Given the description of an element on the screen output the (x, y) to click on. 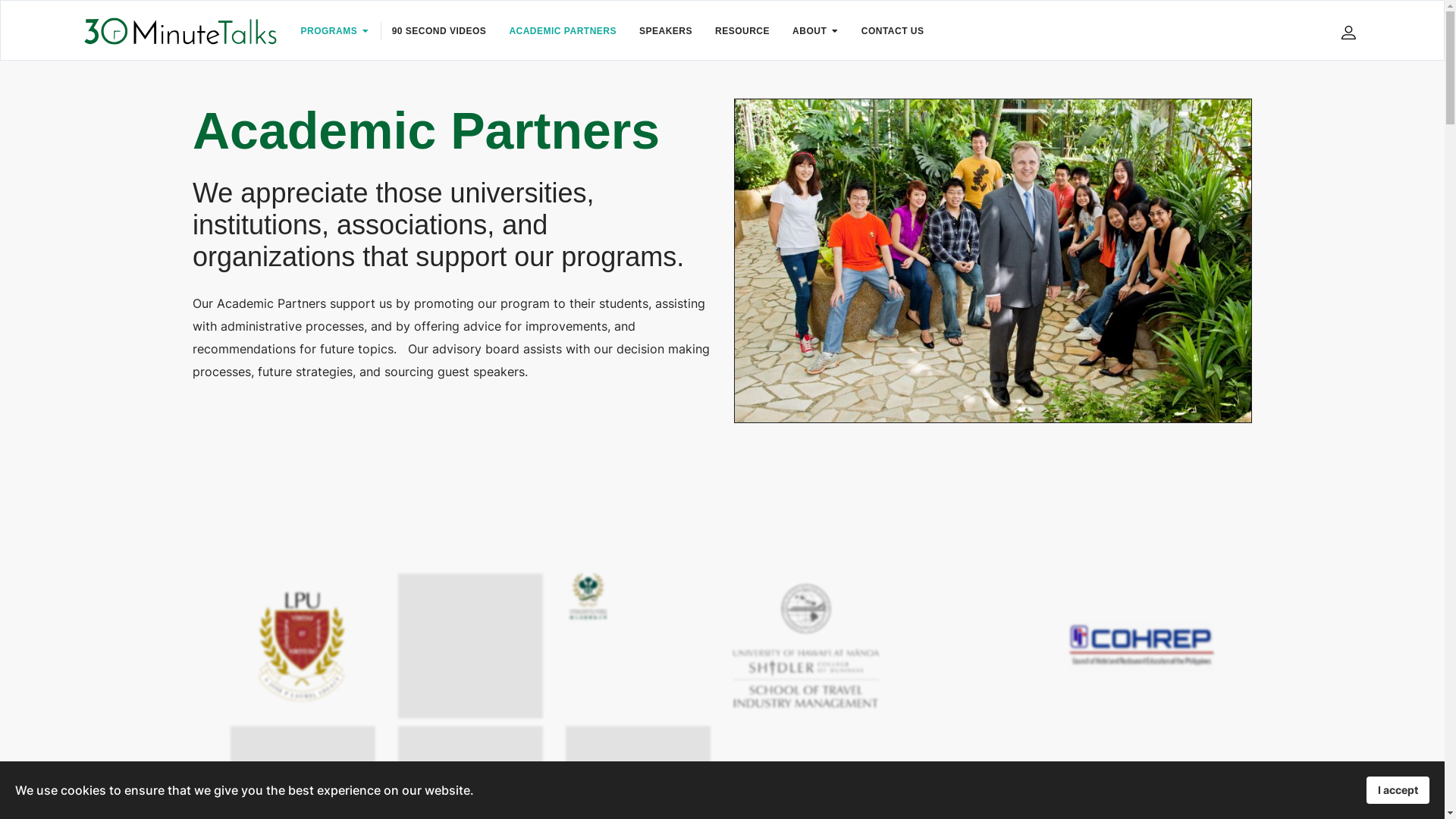
90 SECOND VIDEOS Element type: text (439, 30)
CONTACT US Element type: text (892, 30)
PROGRAMS Element type: text (334, 30)
ABOUT Element type: text (815, 30)
RESOURCE Element type: text (742, 30)
I accept Element type: text (1397, 789)
SPEAKERS Element type: text (665, 30)
ACADEMIC PARTNERS Element type: text (562, 30)
